Given the description of an element on the screen output the (x, y) to click on. 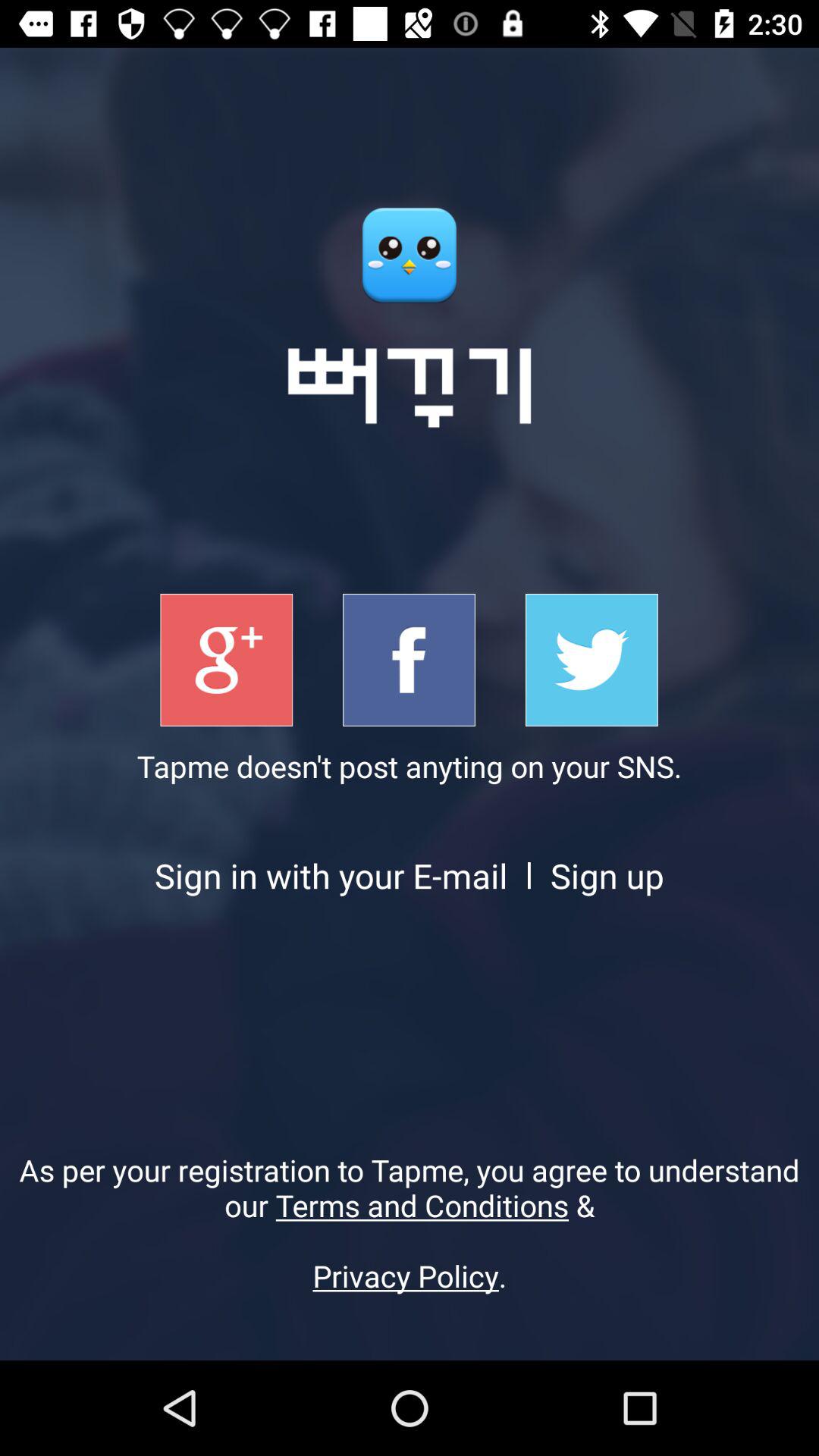
sign up with facebook account (408, 659)
